Given the description of an element on the screen output the (x, y) to click on. 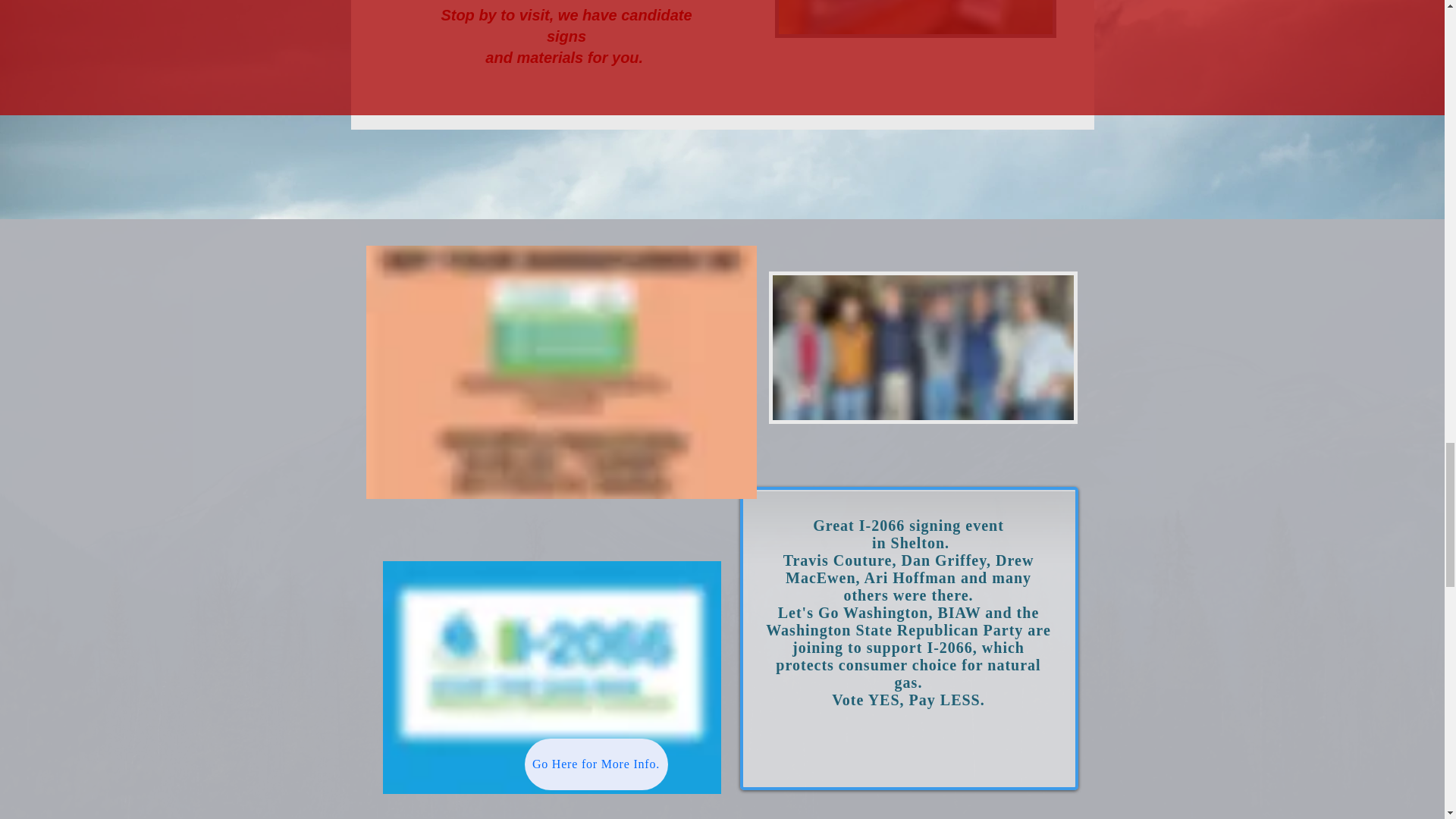
thumbnail.jpg (922, 347)
I-2066.jfif (560, 371)
Go Here for More Info. (596, 764)
